Given the description of an element on the screen output the (x, y) to click on. 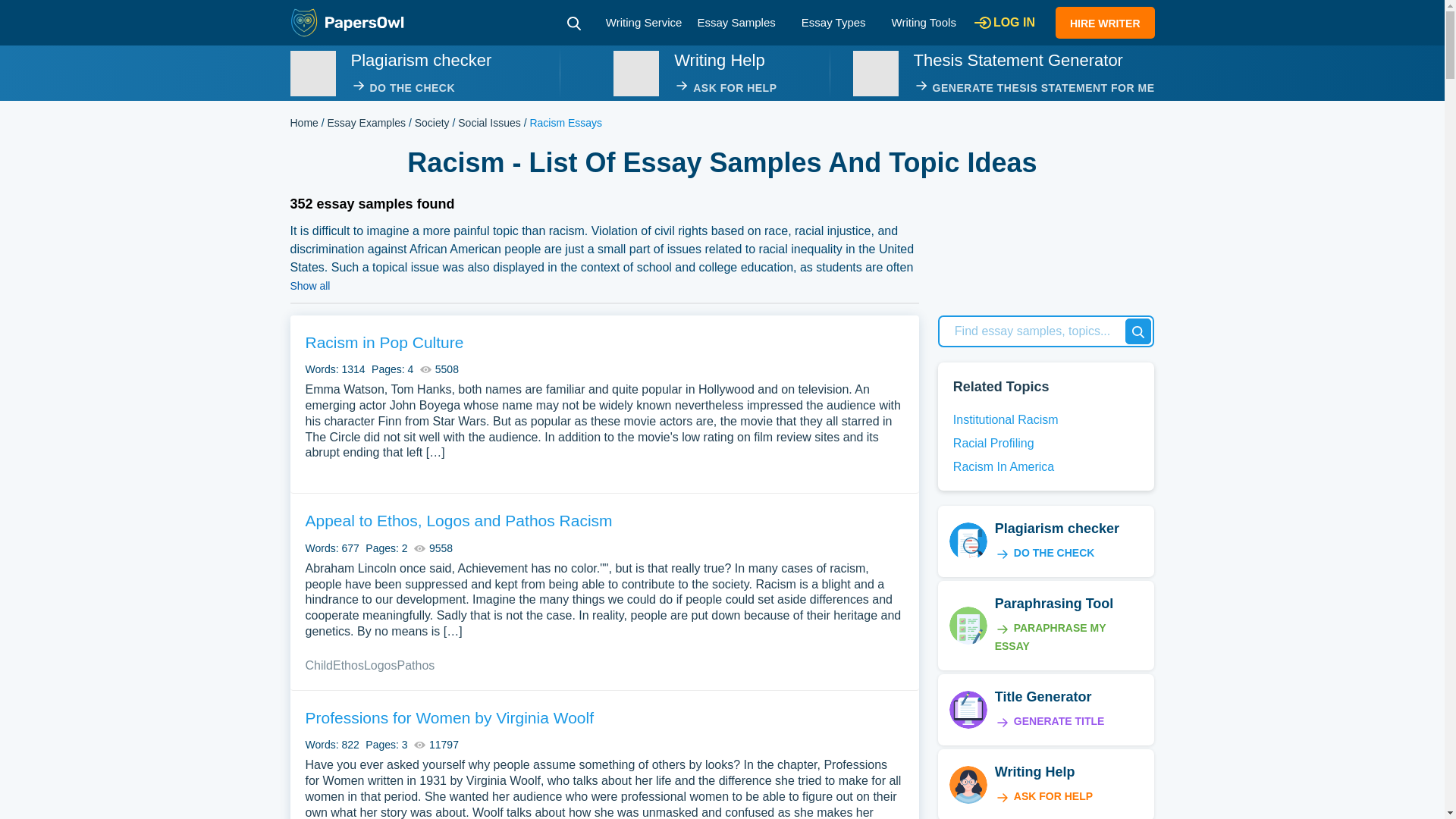
image (875, 72)
image (635, 72)
image (311, 72)
Writing Service (643, 21)
